Given the description of an element on the screen output the (x, y) to click on. 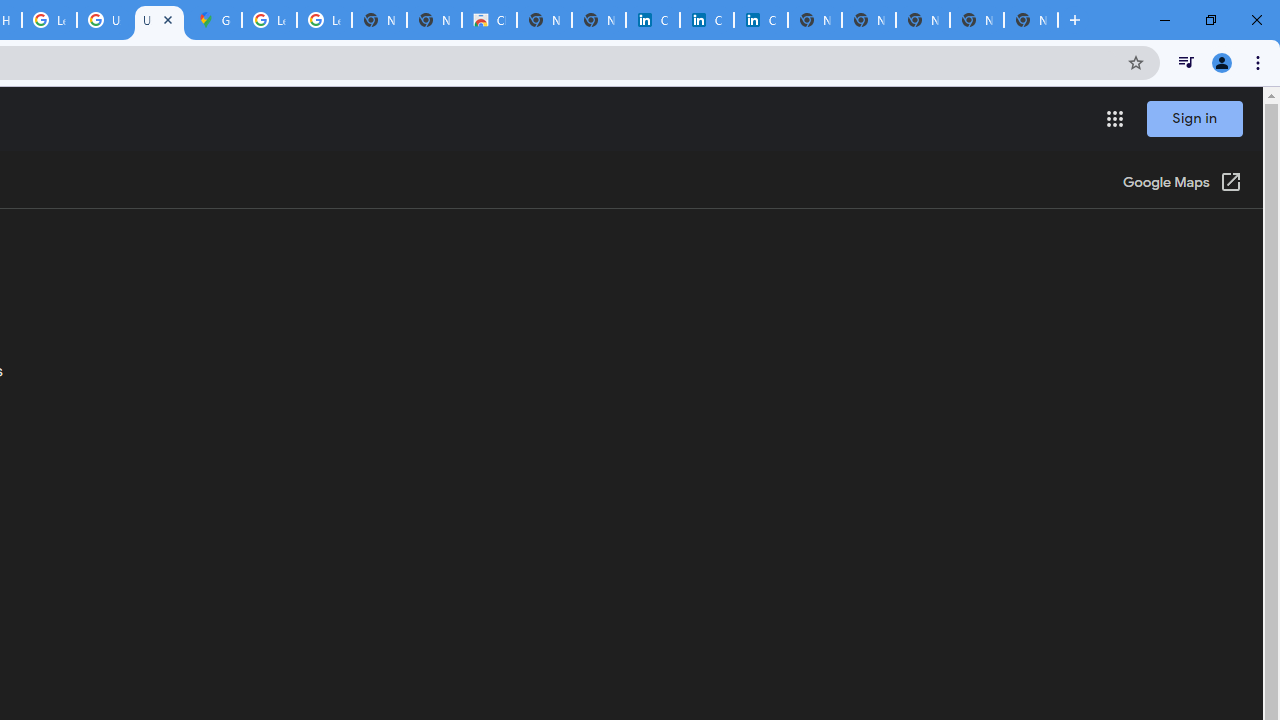
New Tab (1030, 20)
Google Maps (Open in a new window) (1182, 183)
Cookie Policy | LinkedIn (652, 20)
Chrome Web Store (489, 20)
Cookie Policy | LinkedIn (706, 20)
